Given the description of an element on the screen output the (x, y) to click on. 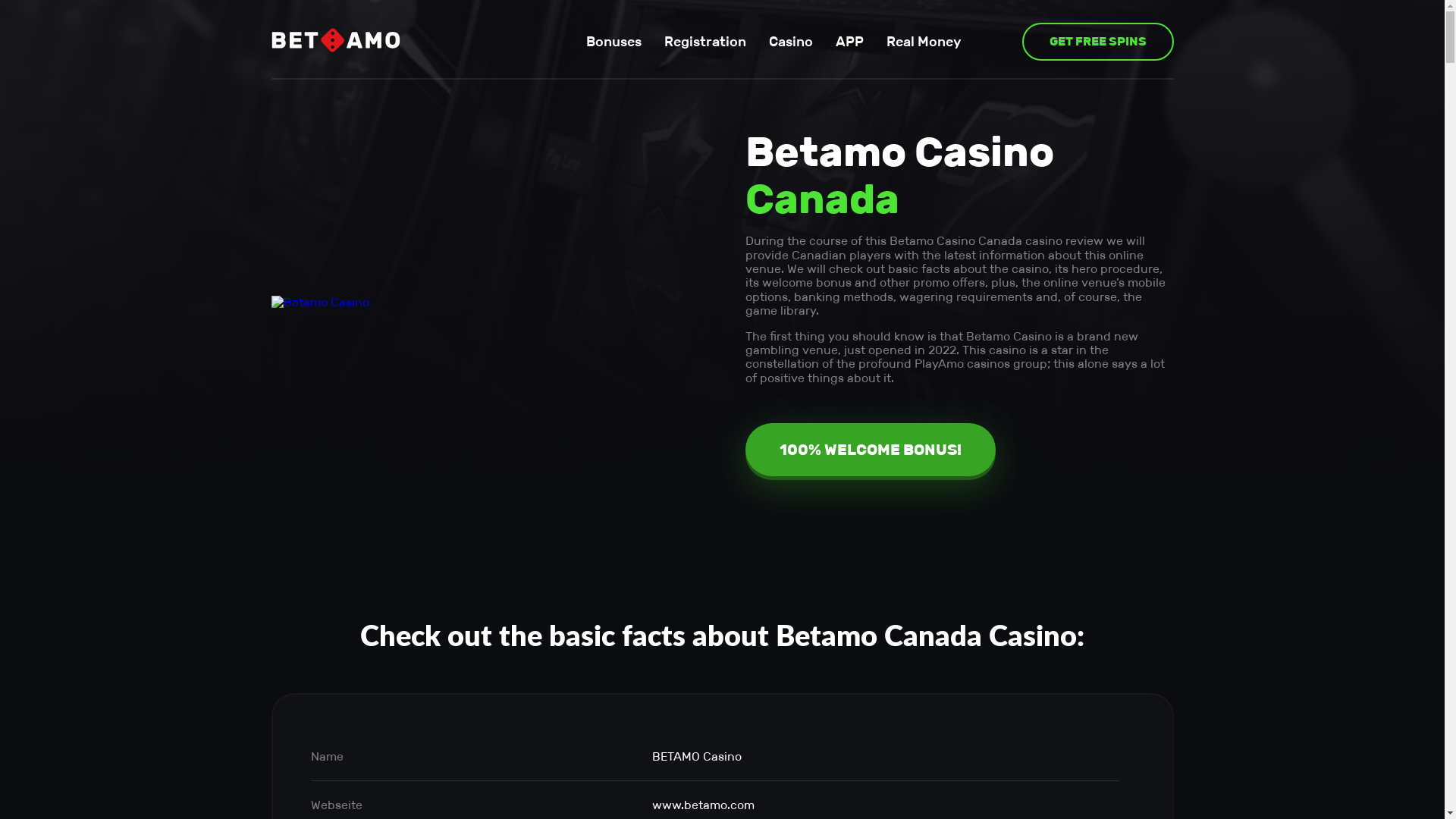
Registration Element type: text (705, 41)
Real Money Element type: text (922, 41)
APP Element type: text (849, 41)
GET FREE SPINS Element type: text (1097, 41)
Casino Element type: text (790, 41)
100% WELCOME BONUS! Element type: text (869, 449)
Bonuses Element type: text (612, 41)
